Given the description of an element on the screen output the (x, y) to click on. 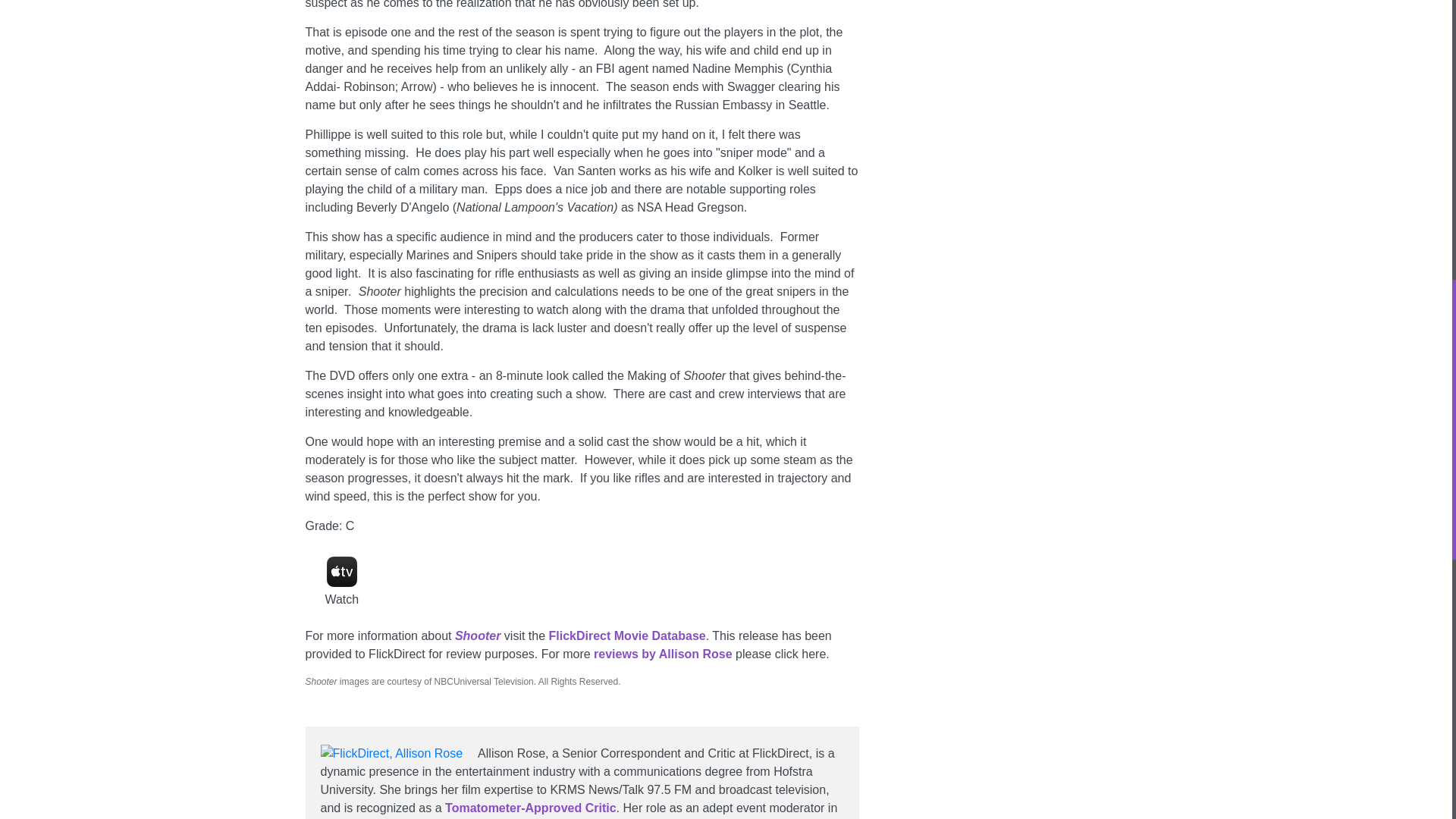
Shooter (477, 635)
